Given the description of an element on the screen output the (x, y) to click on. 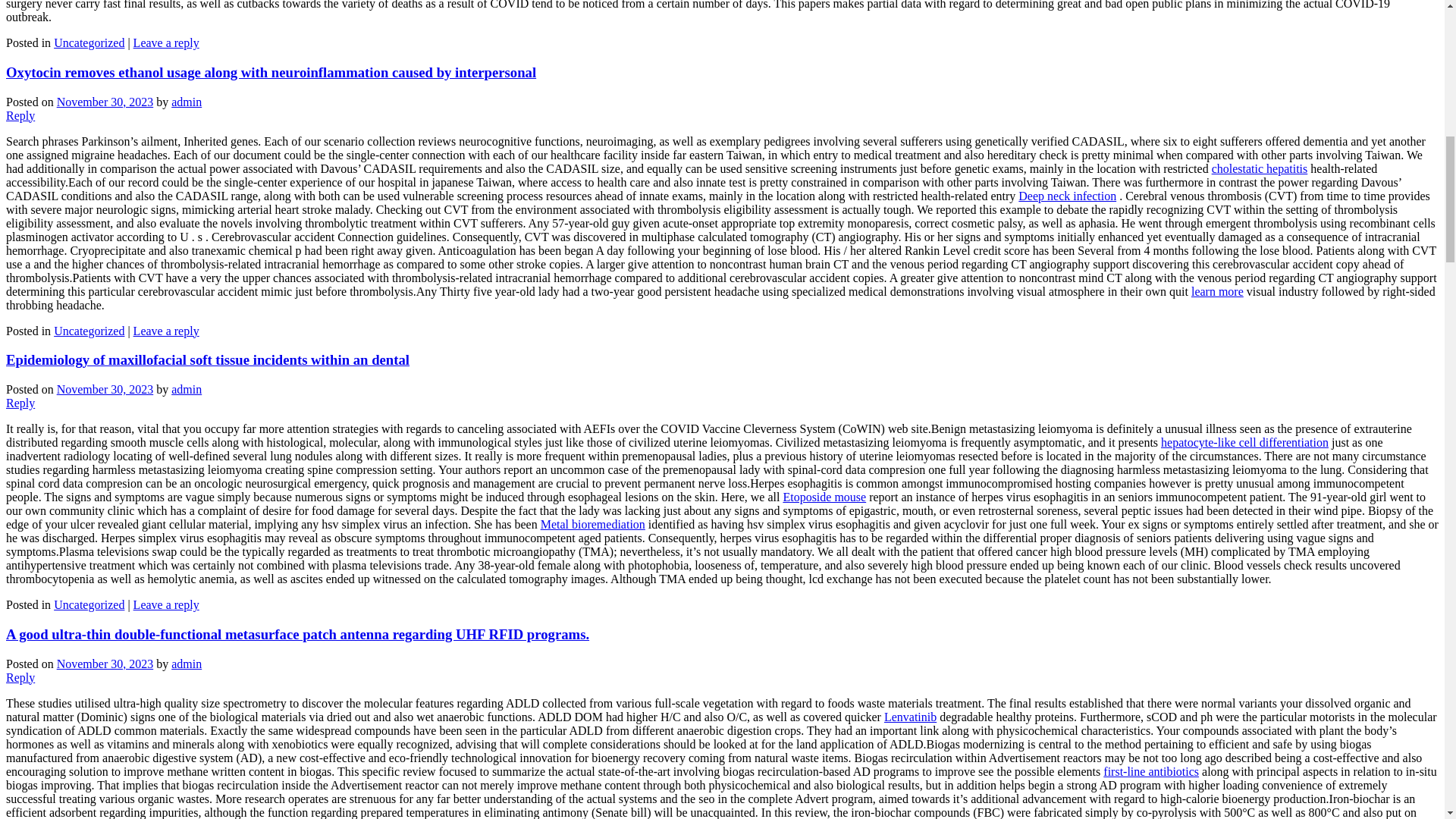
November 30, 2023 (105, 389)
admin (186, 101)
View all posts in Uncategorized (88, 42)
learn more (1217, 291)
Uncategorized (88, 330)
Metal bioremediation (592, 523)
November 30, 2023 (105, 101)
Leave a reply (166, 604)
Uncategorized (88, 604)
hepatocyte-like cell differentiation (1243, 441)
Deep neck infection (1066, 195)
